Given the description of an element on the screen output the (x, y) to click on. 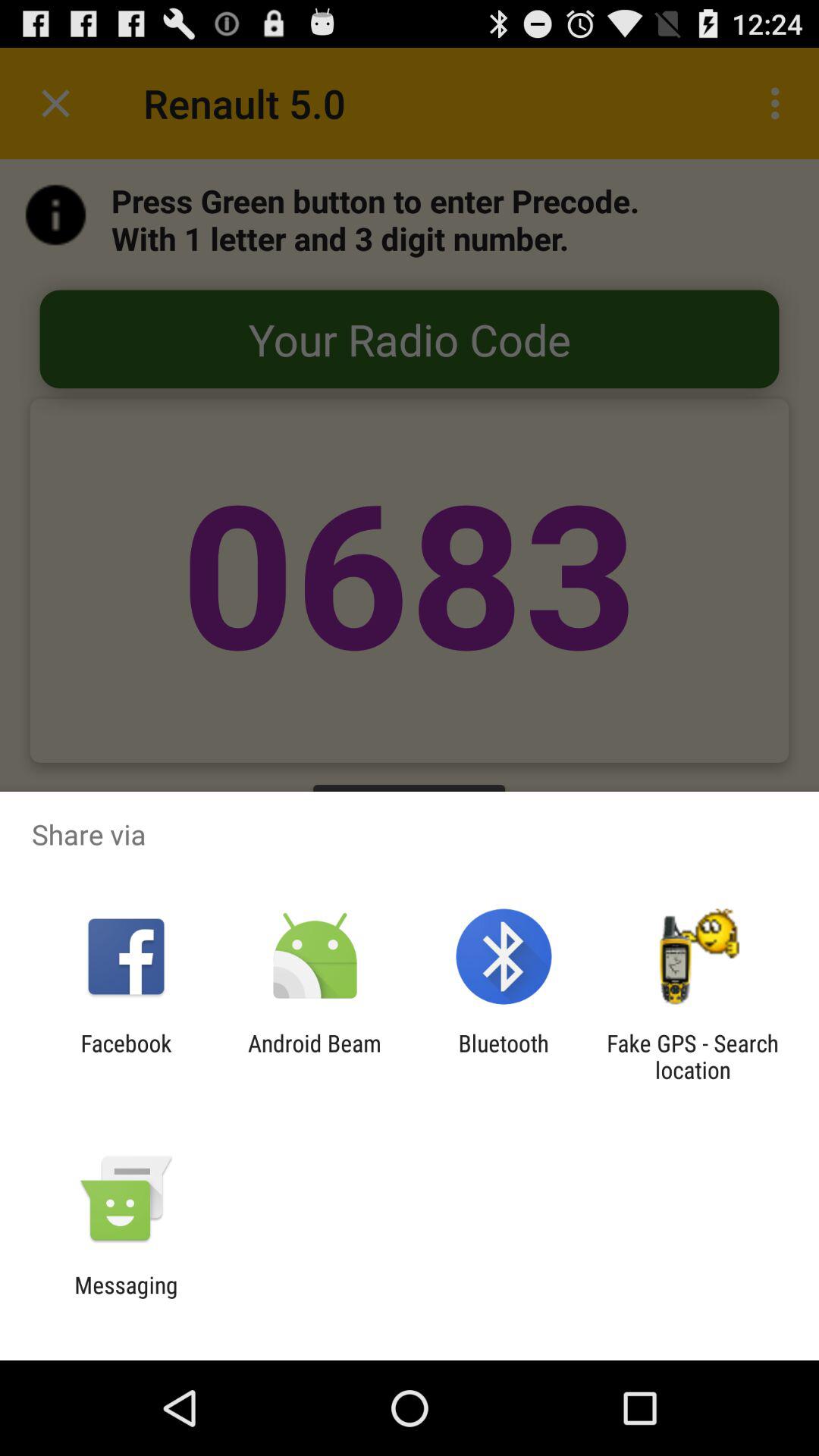
select icon to the left of bluetooth item (314, 1056)
